Given the description of an element on the screen output the (x, y) to click on. 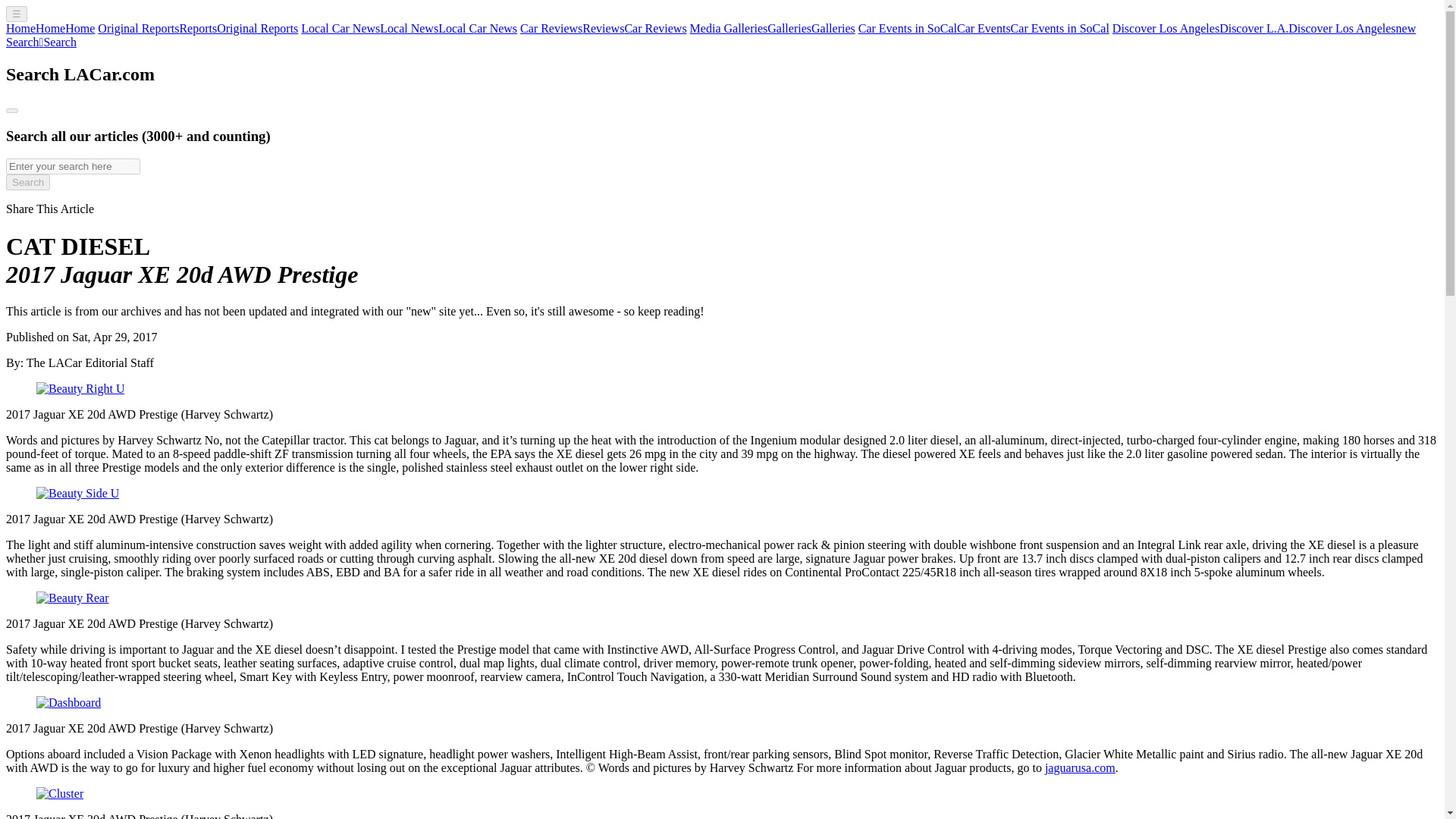
Car Events in SoCalCar EventsCar Events in SoCal (984, 28)
Local Car NewsLocal NewsLocal Car News (408, 28)
Search (27, 182)
Original ReportsReportsOriginal Reports (197, 28)
HomeHomeHome (49, 28)
Media GalleriesGalleriesGalleries (773, 28)
jaguarusa.com (1080, 767)
Discover Los AngelesDiscover L.A.Discover Los Angelesnew (1263, 28)
Car ReviewsReviewsCar Reviews (603, 28)
